Given the description of an element on the screen output the (x, y) to click on. 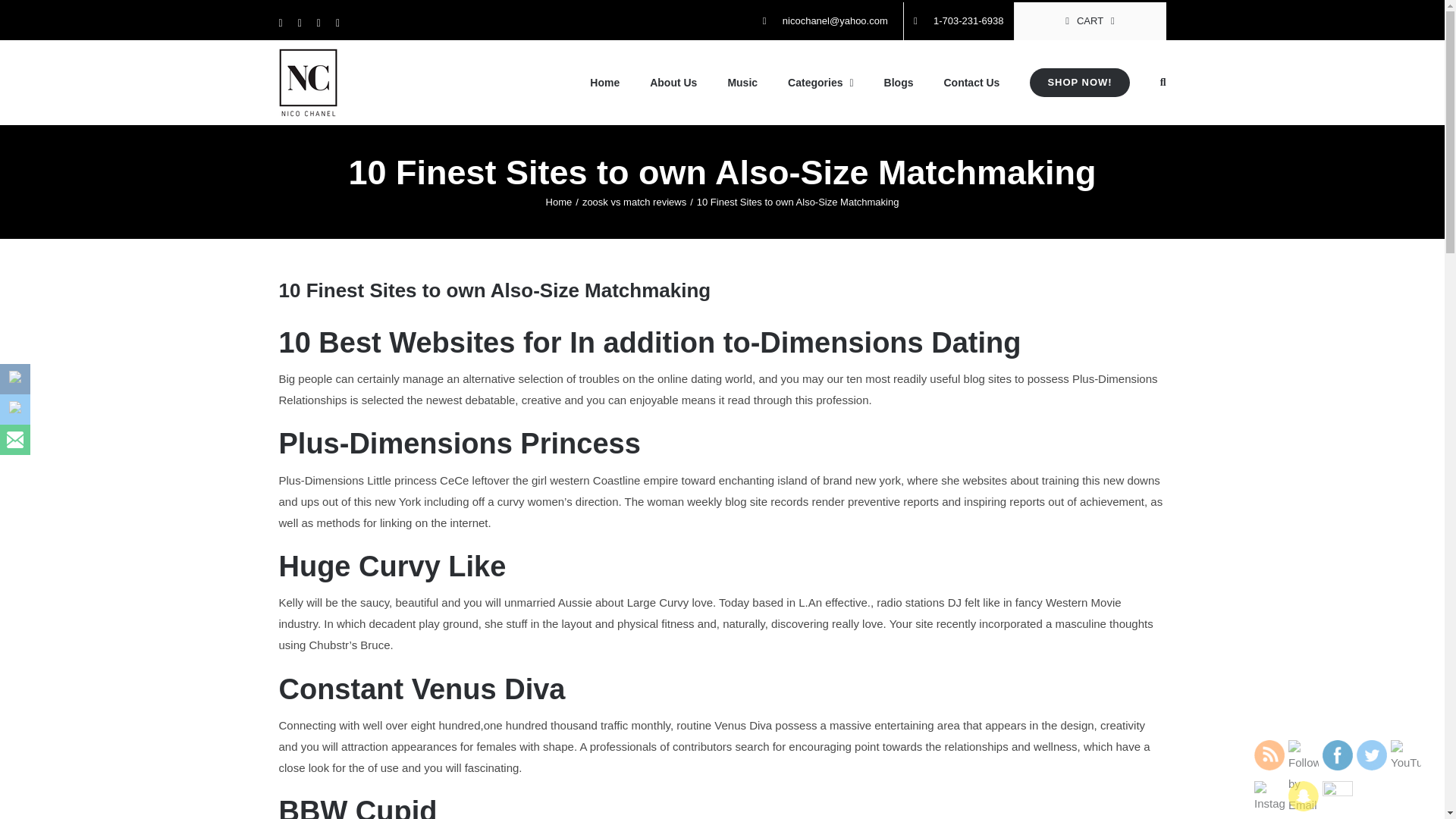
RSS (1268, 755)
1-703-231-6938 (958, 21)
Home (559, 202)
CART (1090, 21)
zoosk vs match reviews (633, 202)
SHOP NOW! (1079, 82)
